Given the description of an element on the screen output the (x, y) to click on. 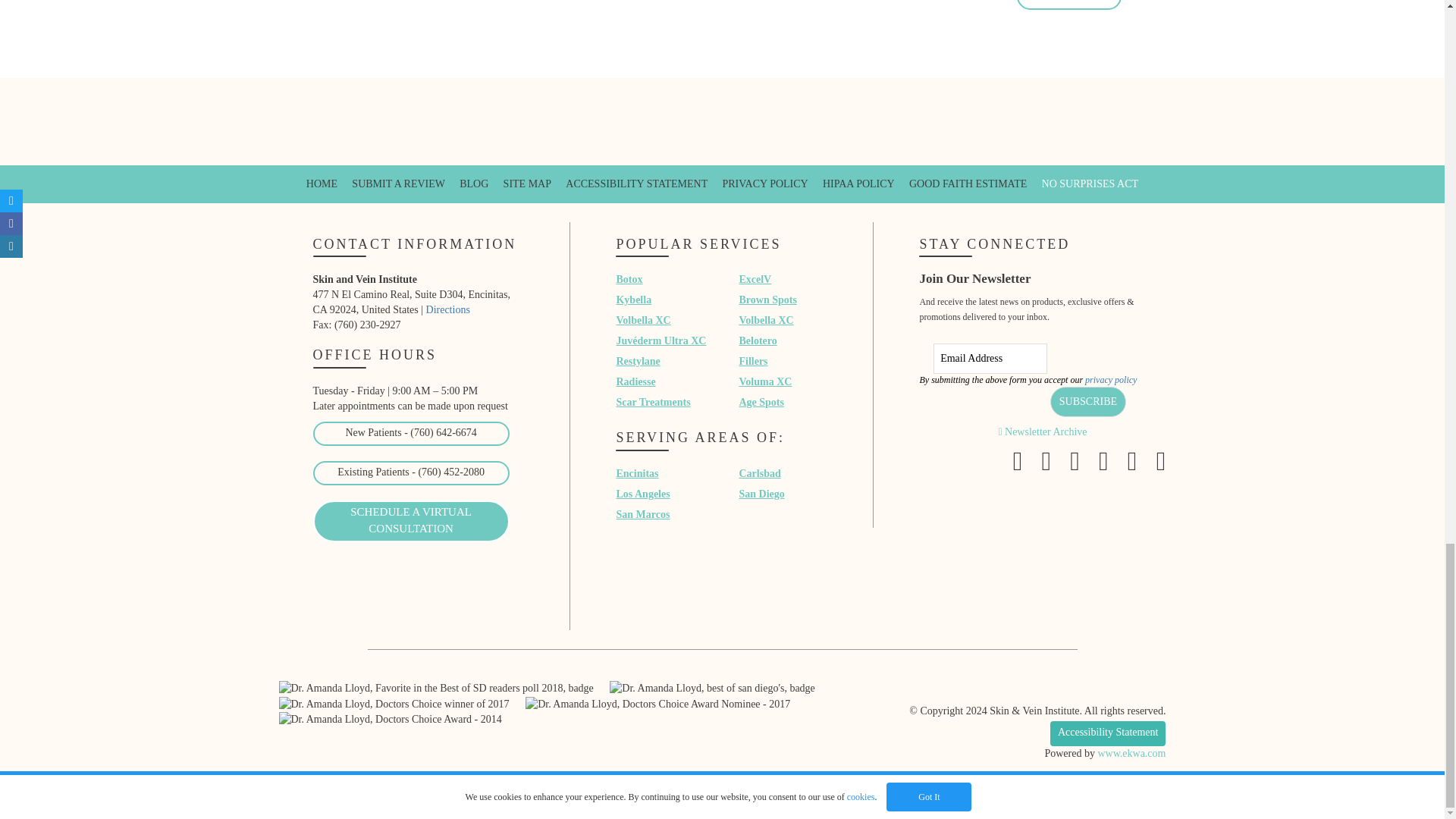
Subscribe (1087, 401)
